Given the description of an element on the screen output the (x, y) to click on. 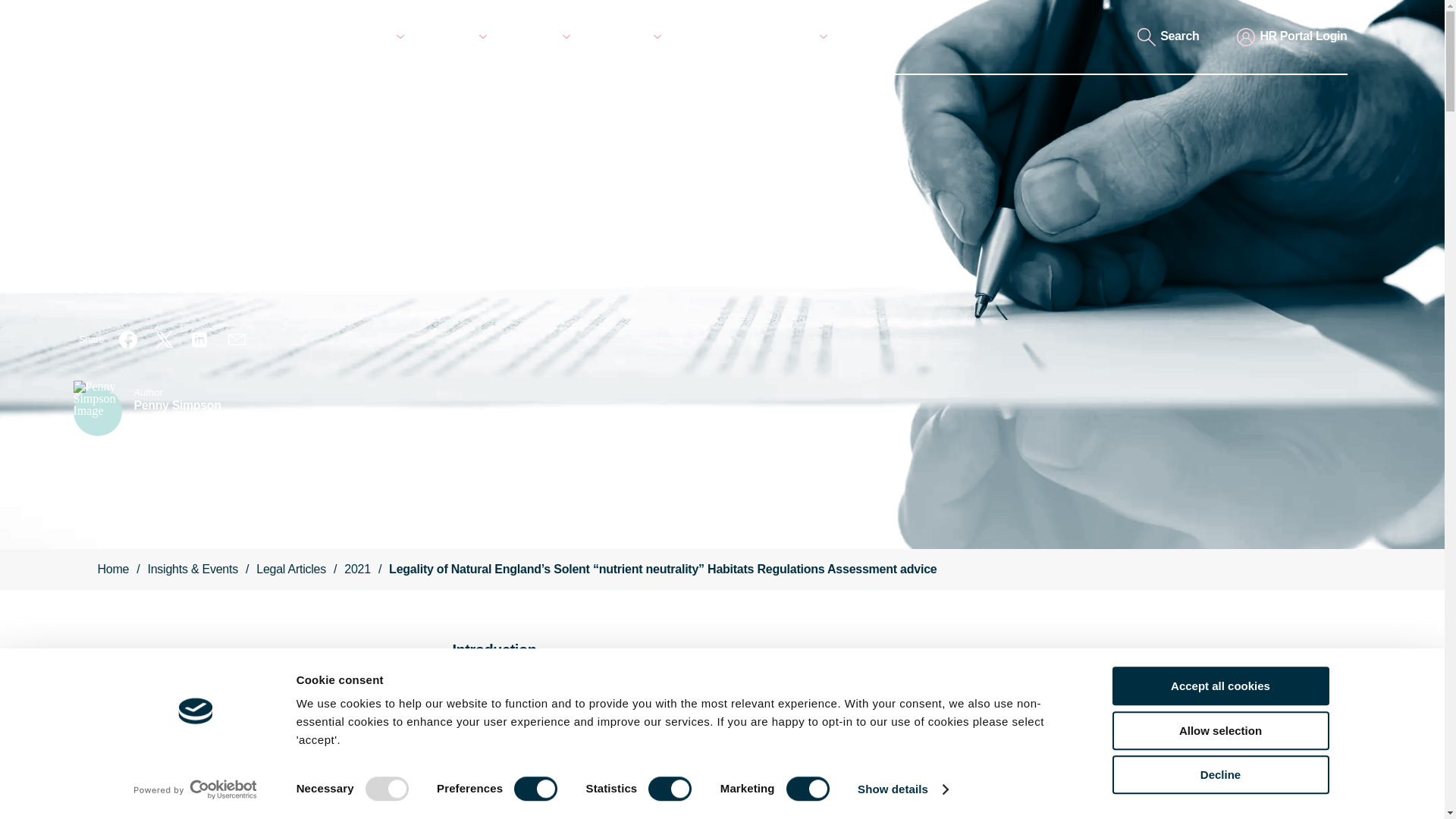
Show details (902, 789)
Share via X (163, 339)
Share via LinkedIn (200, 339)
Allow selection (1219, 730)
Share via email (236, 339)
Go to homepage (154, 49)
Accept all cookies (1219, 685)
Share (90, 339)
Decline (1219, 774)
Share via Facebook (127, 339)
